Given the description of an element on the screen output the (x, y) to click on. 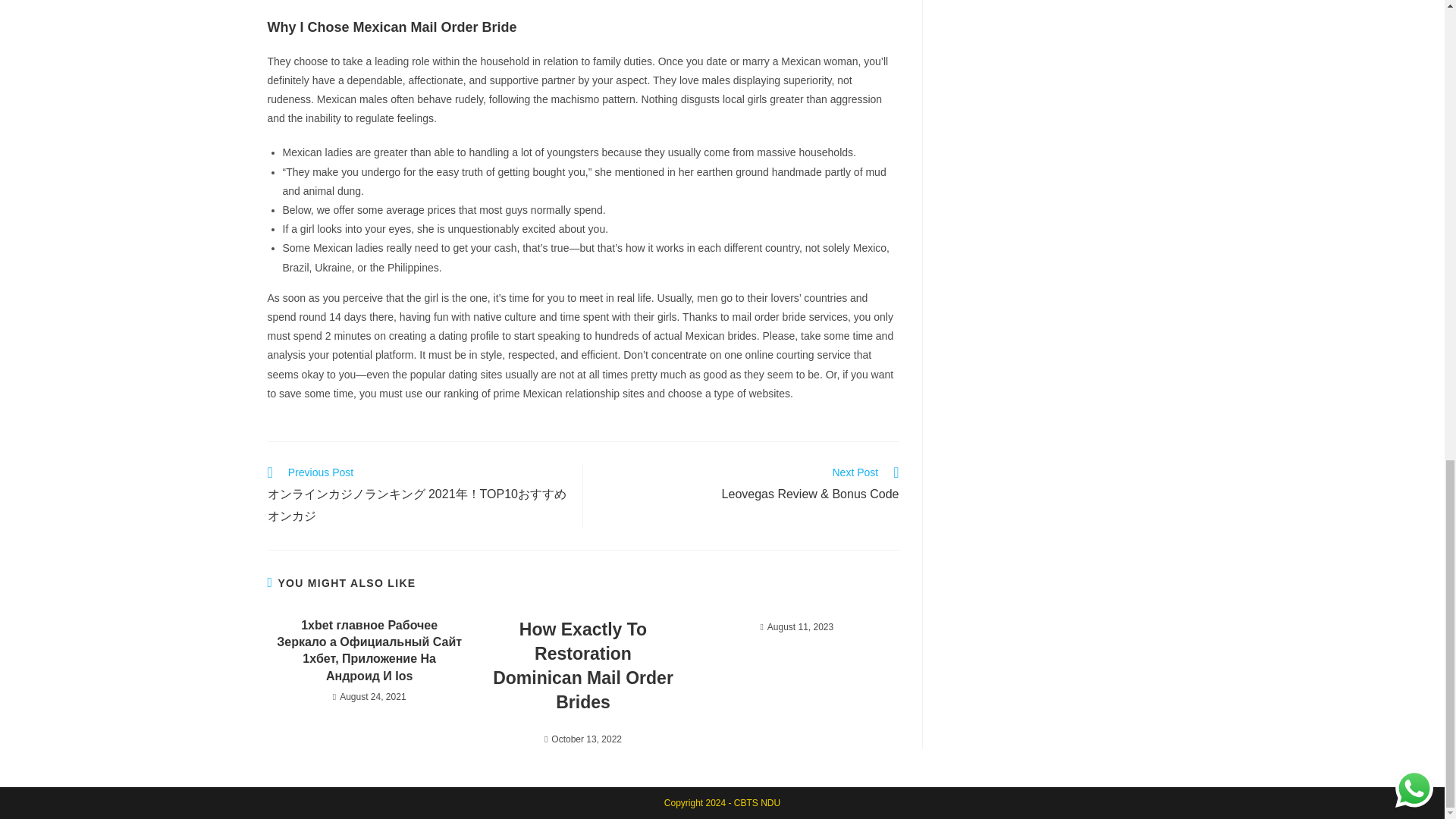
How Exactly To Restoration Dominican Mail Order Brides (582, 665)
How Exactly To Restoration Dominican Mail Order Brides (582, 665)
